Given the description of an element on the screen output the (x, y) to click on. 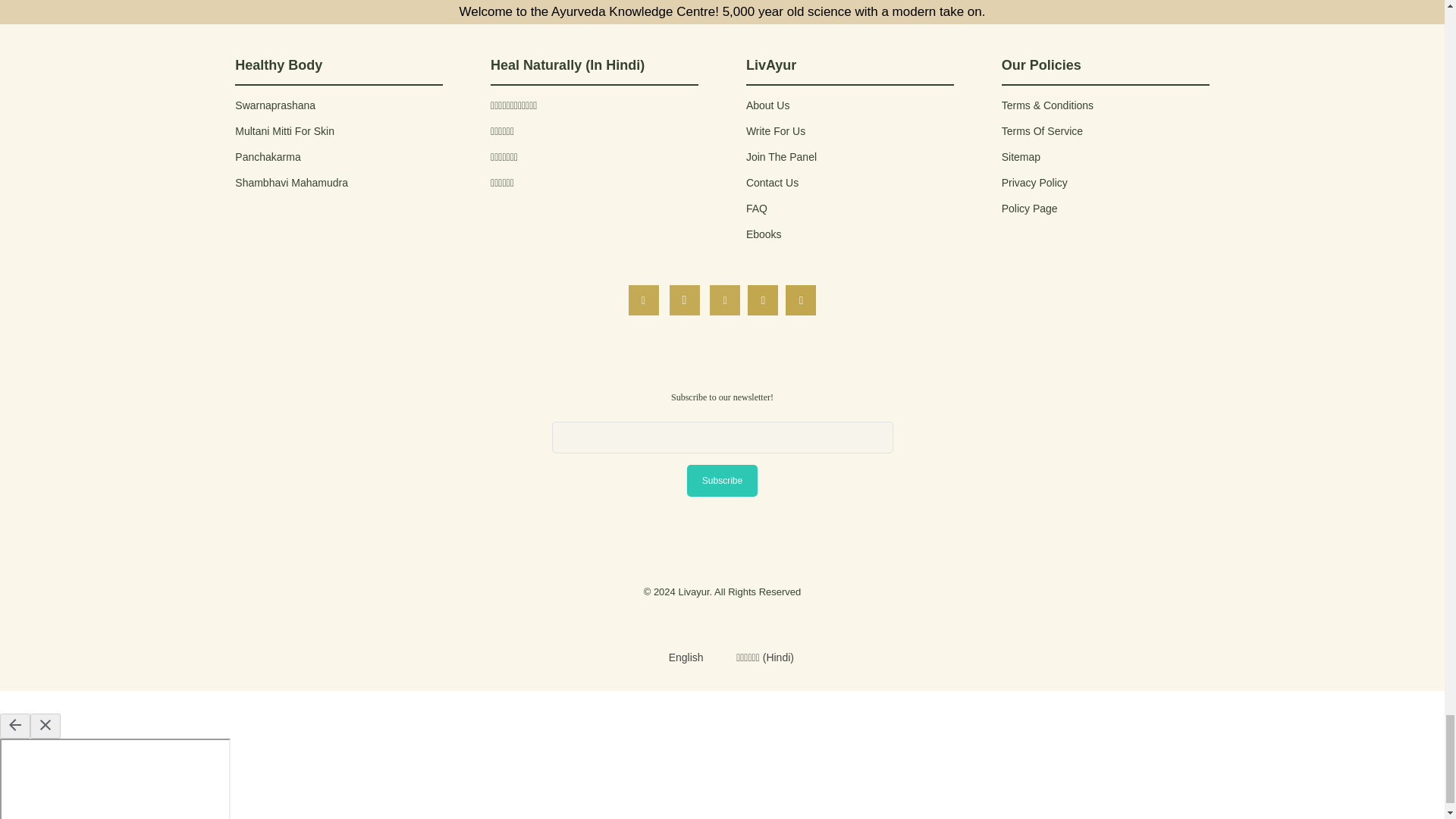
Subscribe (722, 480)
